Given the description of an element on the screen output the (x, y) to click on. 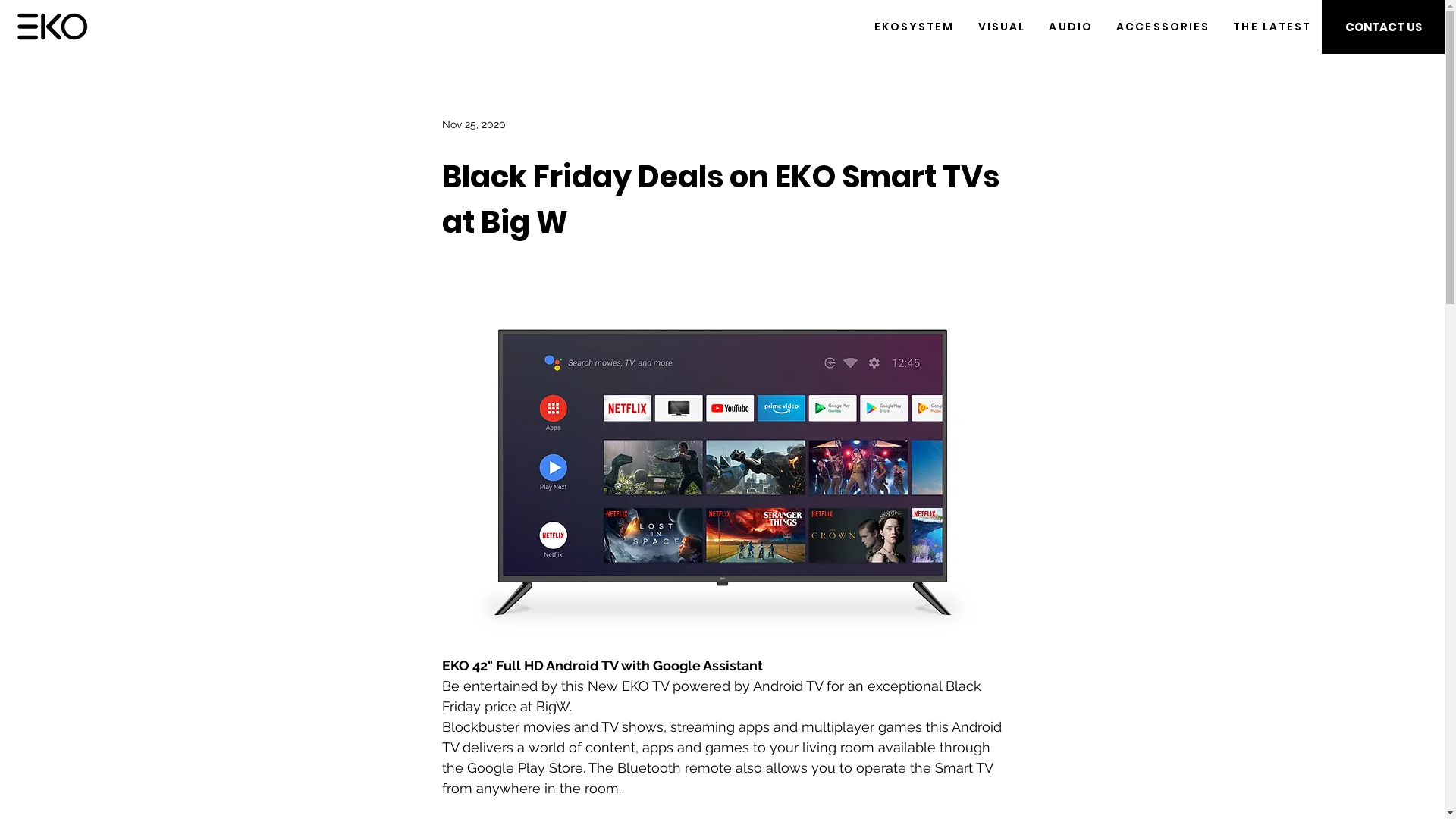
THE LATEST Element type: text (1272, 26)
CONTACT US Element type: text (1382, 26)
